Given the description of an element on the screen output the (x, y) to click on. 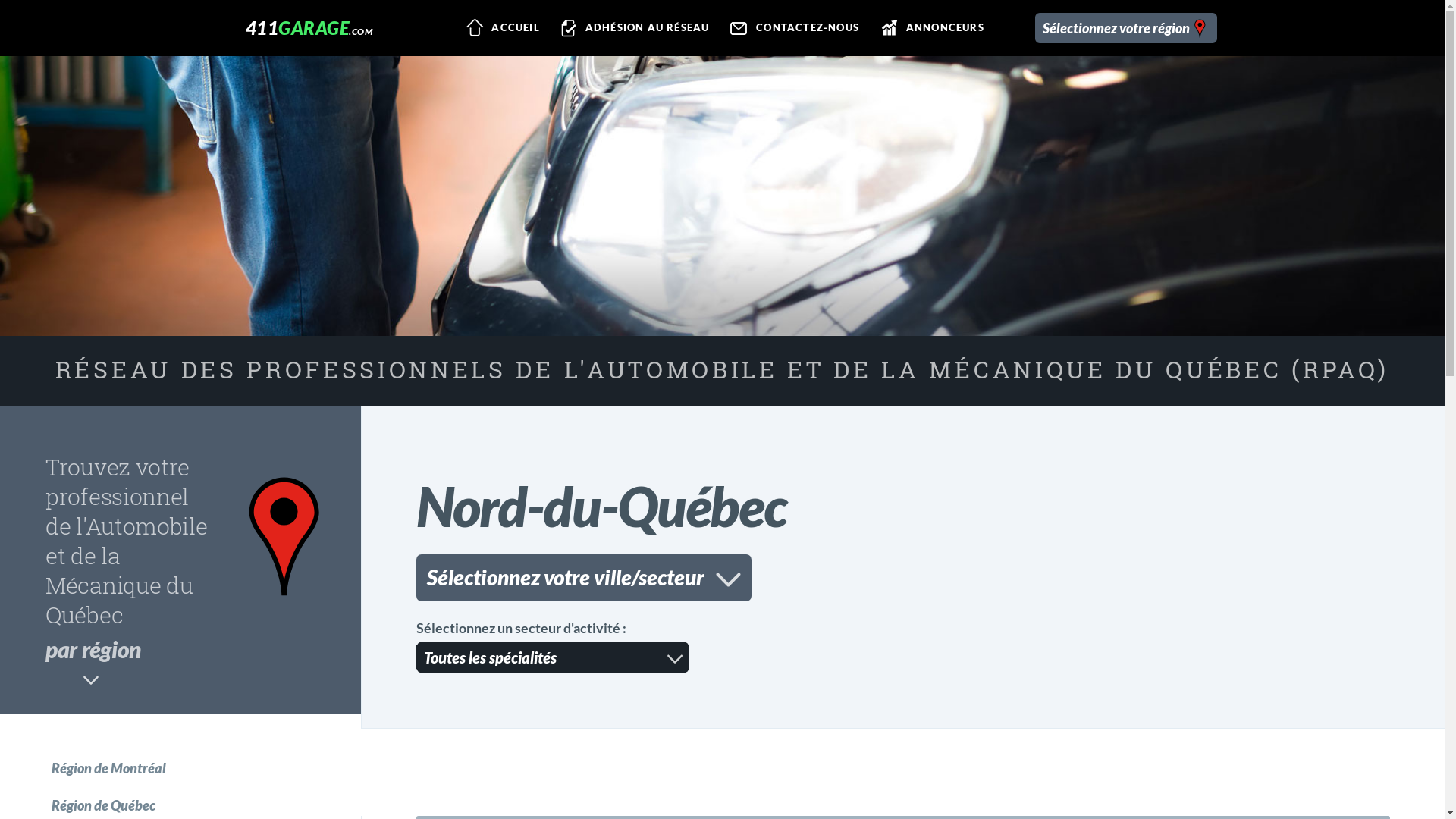
CONTACTEZ-NOUS Element type: text (793, 28)
Mistissini Element type: text (652, 572)
ANNONCEURS Element type: text (931, 28)
Matagami Element type: text (568, 572)
Chibougamau Element type: text (469, 572)
ACCUEIL Element type: text (501, 28)
411GARAGE.COM Element type: text (308, 27)
